Given the description of an element on the screen output the (x, y) to click on. 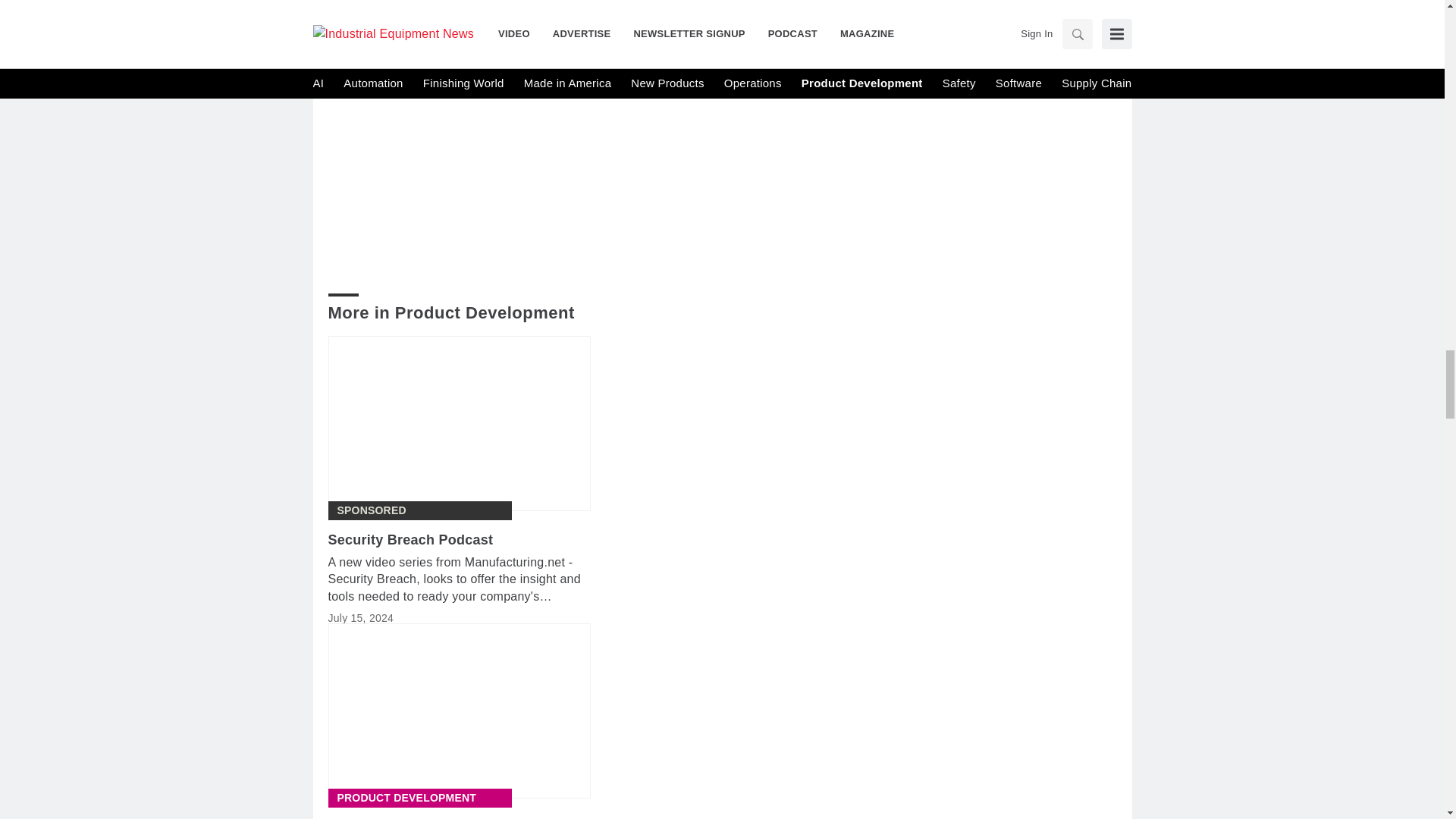
Sponsored (371, 510)
Product Development (406, 797)
